Given the description of an element on the screen output the (x, y) to click on. 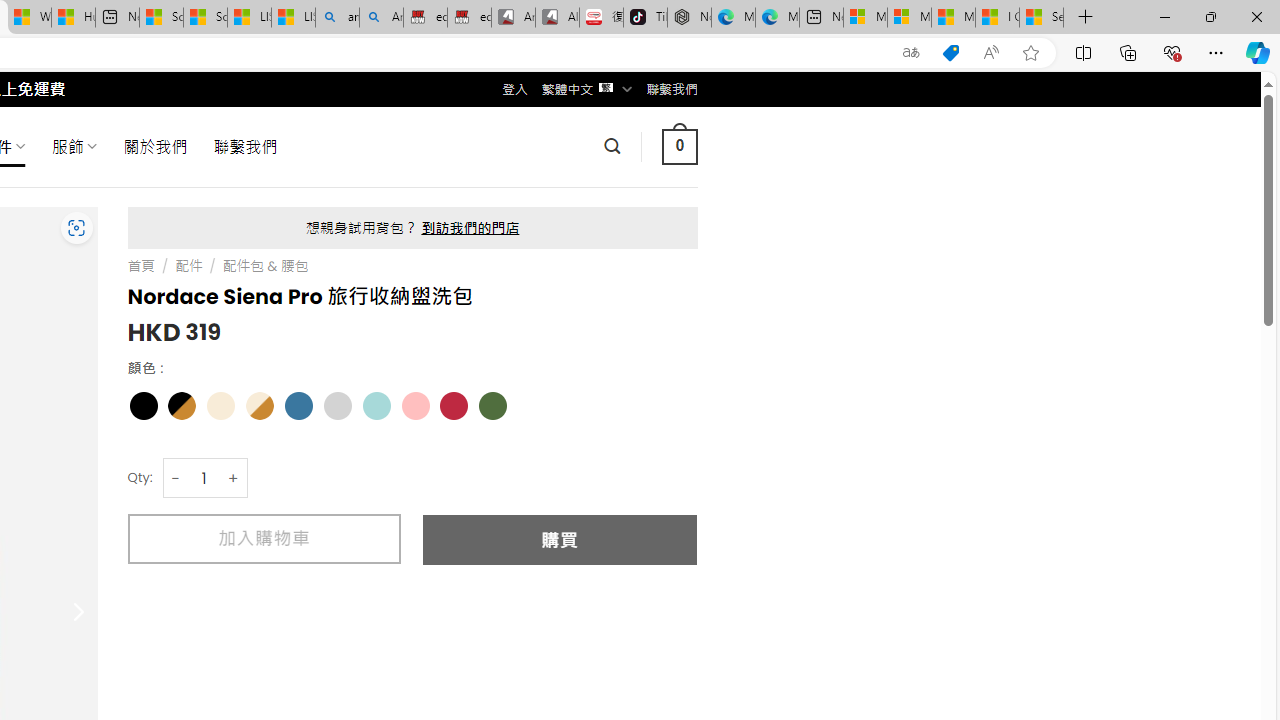
- (175, 477)
+ (234, 477)
Minimize (1164, 16)
Microsoft Start (953, 17)
New Tab (1085, 17)
Restore (1210, 16)
